Given the description of an element on the screen output the (x, y) to click on. 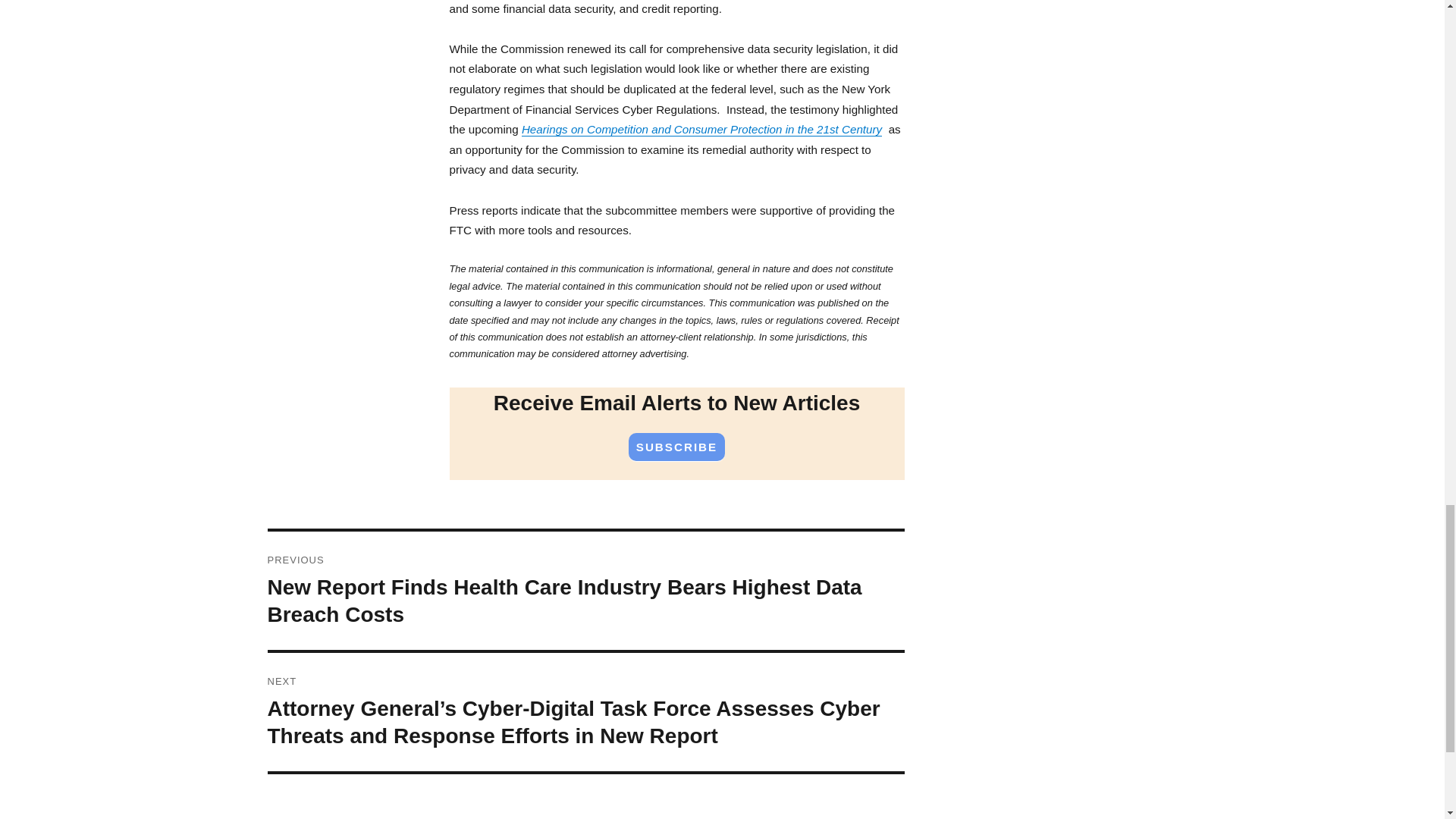
SUBSCRIBE (676, 447)
